Given the description of an element on the screen output the (x, y) to click on. 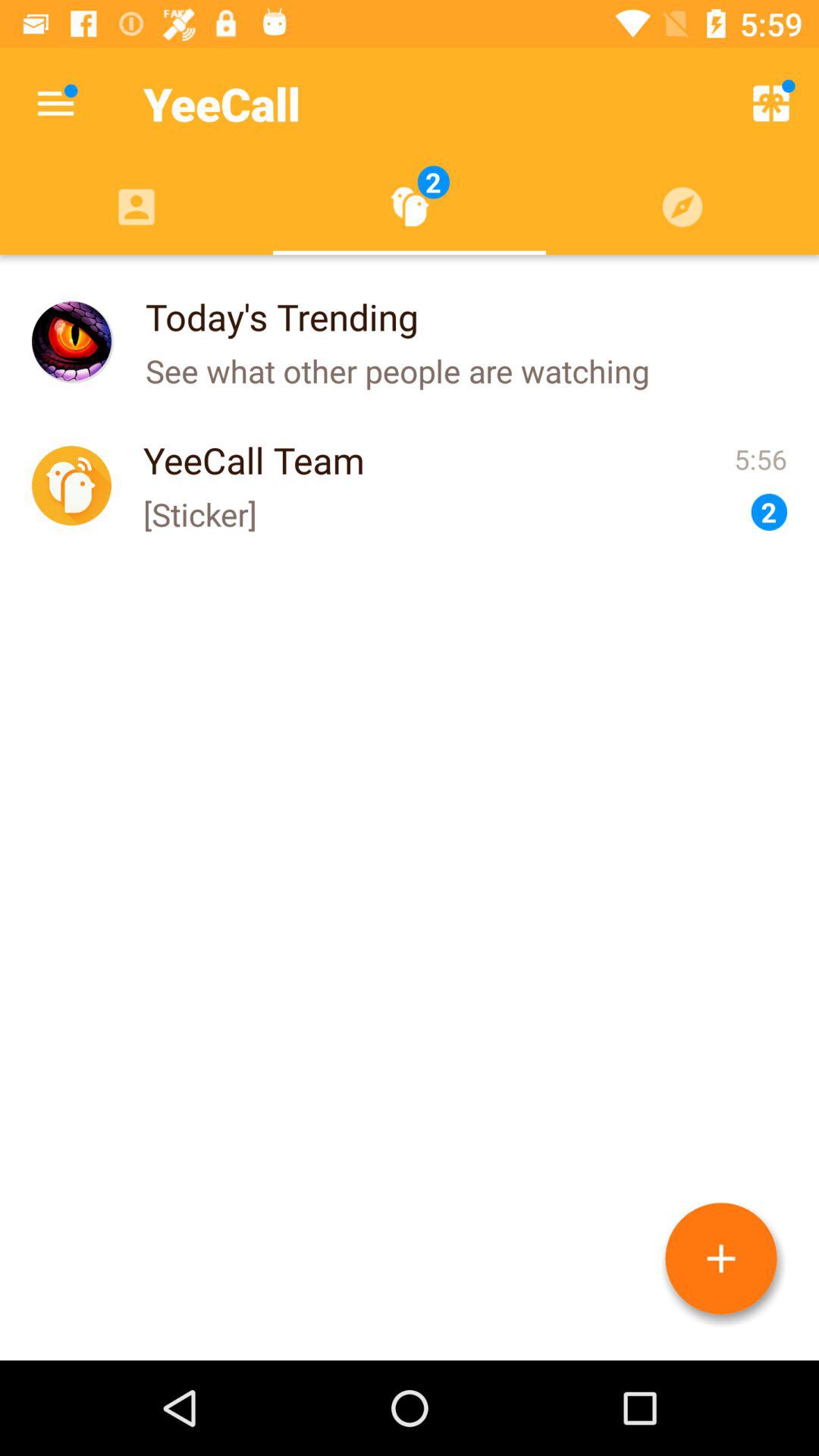
tap the item below the 2 icon (721, 1258)
